Given the description of an element on the screen output the (x, y) to click on. 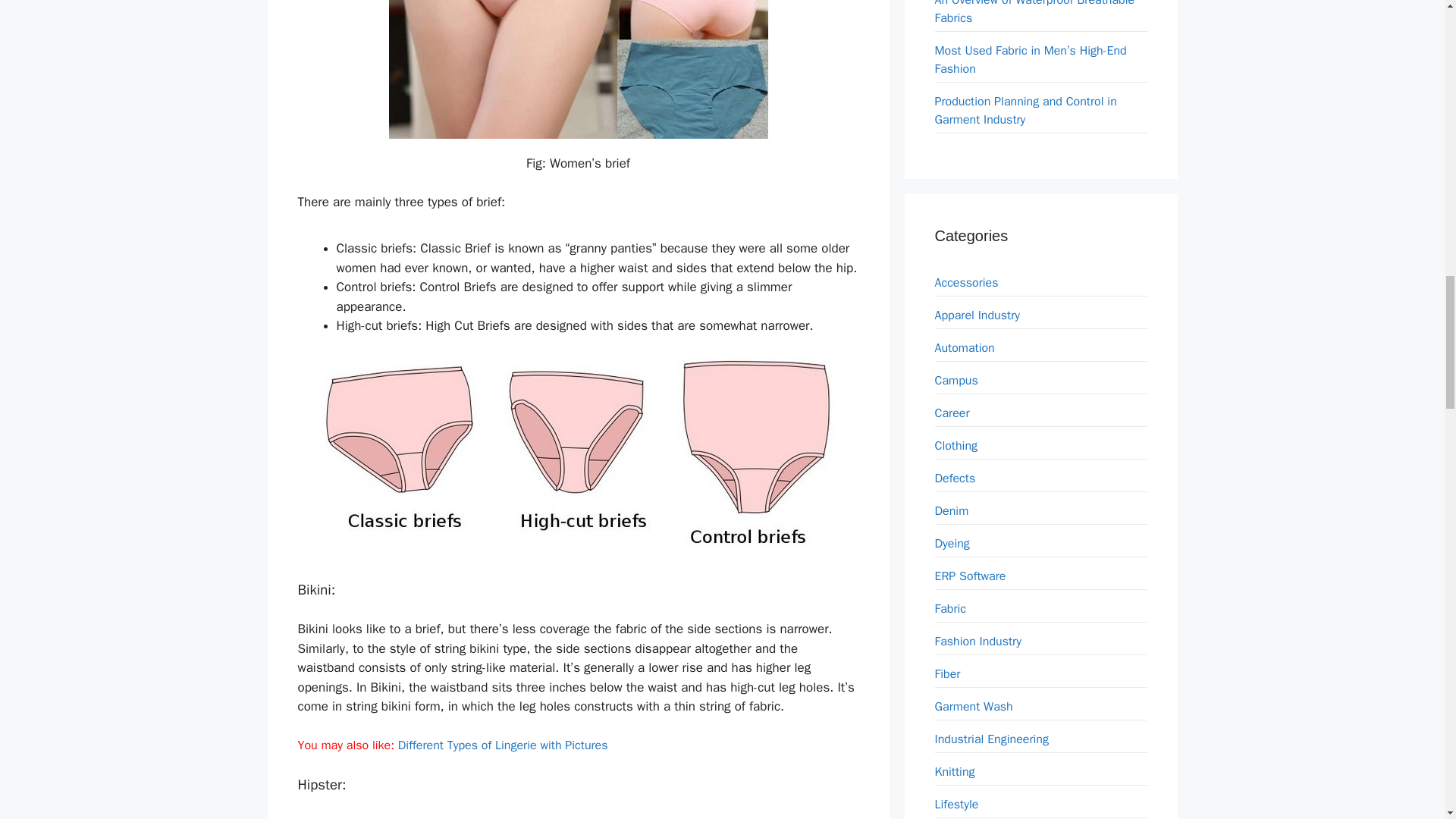
Different Types of Lingerie with Pictures (502, 744)
